Given the description of an element on the screen output the (x, y) to click on. 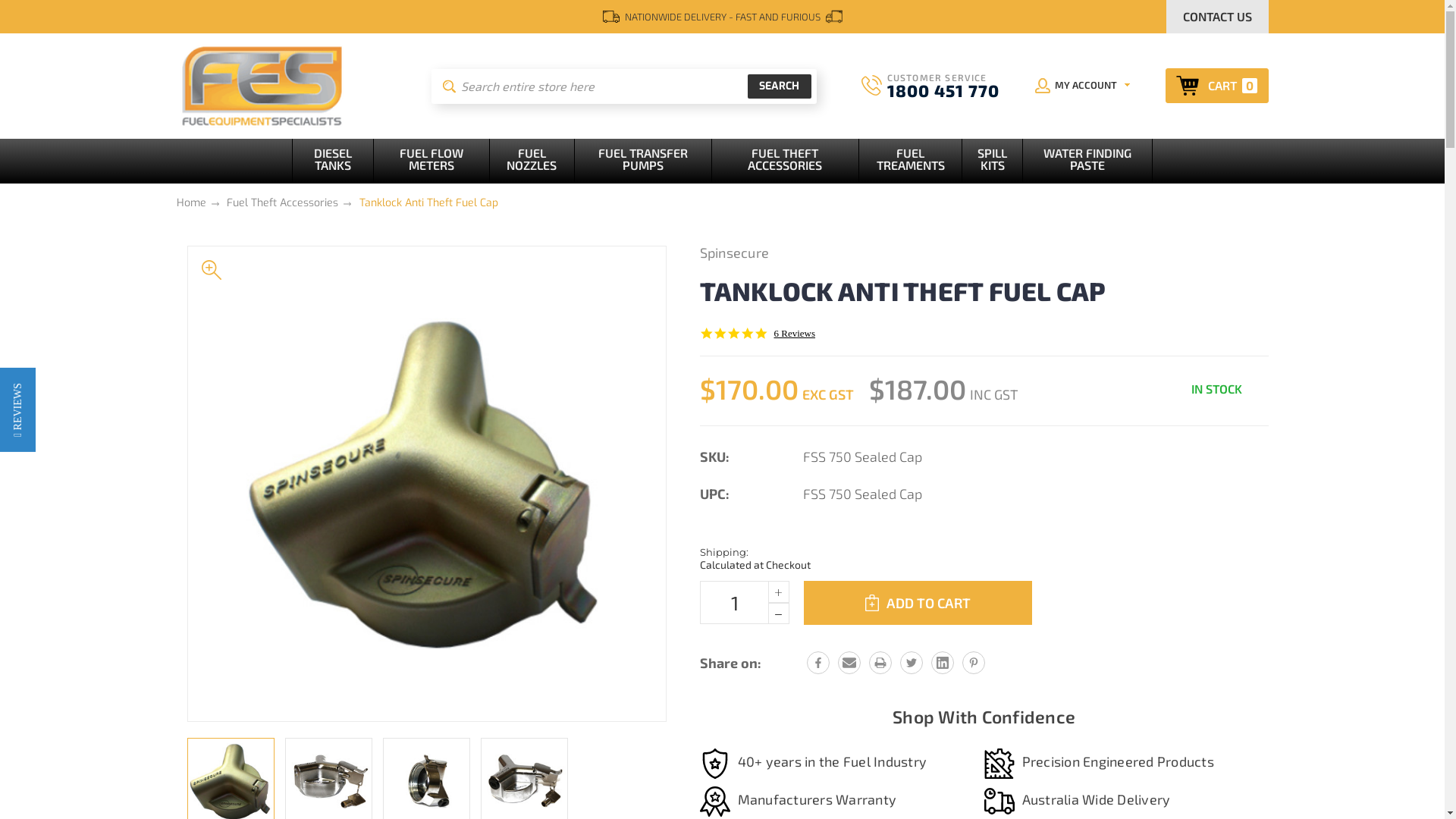
SPILL KITS Element type: text (992, 160)
CUSTOMER SERVICE
1800 451 770 Element type: text (930, 85)
Increase Quantity of undefined Element type: text (777, 591)
Print Element type: hover (880, 661)
Tanklock Anti Theft Fuel Cap Element type: text (428, 202)
Home Element type: text (190, 202)
Email Element type: hover (848, 661)
Fuel Equipment Specialists Pty. Ltd. Element type: hover (260, 85)
Fuel Theft Accessories Element type: text (282, 202)
DIESEL TANKS Element type: text (332, 160)
Facebook Element type: hover (817, 661)
FUEL FLOW METERS Element type: text (430, 160)
FUEL NOZZLES Element type: text (531, 160)
6 Reviews Element type: text (794, 333)
Pinterest Element type: hover (972, 661)
Linkedin Element type: hover (942, 661)
FUEL TREAMENTS Element type: text (911, 160)
CONTACT US Element type: text (1217, 16)
Twitter Element type: hover (910, 661)
ADD TO CART Element type: text (917, 602)
WATER FINDING PASTE Element type: text (1087, 160)
Spinsecure Element type: text (733, 252)
Decrease Quantity of undefined Element type: text (777, 613)
Tanklock Anti Theft Fuel Device from Spinsecure Element type: hover (426, 483)
FUEL TRANSFER PUMPS Element type: text (642, 160)
FUEL THEFT ACCESSORIES Element type: text (784, 160)
CART
0 Element type: text (1215, 85)
SEARCH Element type: text (779, 86)
